Given the description of an element on the screen output the (x, y) to click on. 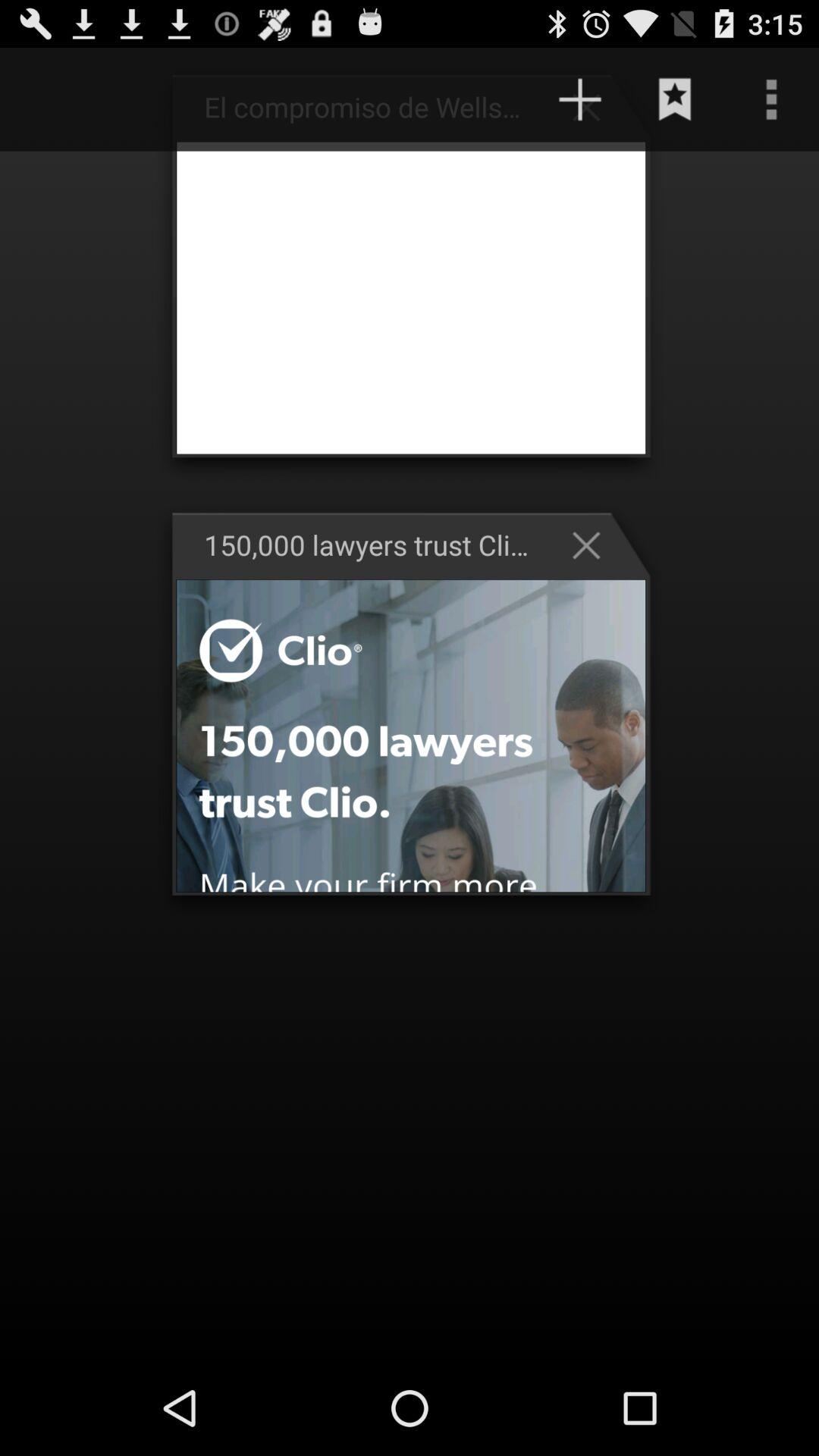
click the  button on the web page (594, 106)
select the plus button at the top of the page (580, 99)
click on  symbol beside bookmark icon on the top of web page (594, 106)
click on the second image (410, 735)
click on the bookmark icon on the top right corner of the web page (675, 99)
click on x in the second image (594, 544)
click on the cross mark button (594, 544)
